Given the description of an element on the screen output the (x, y) to click on. 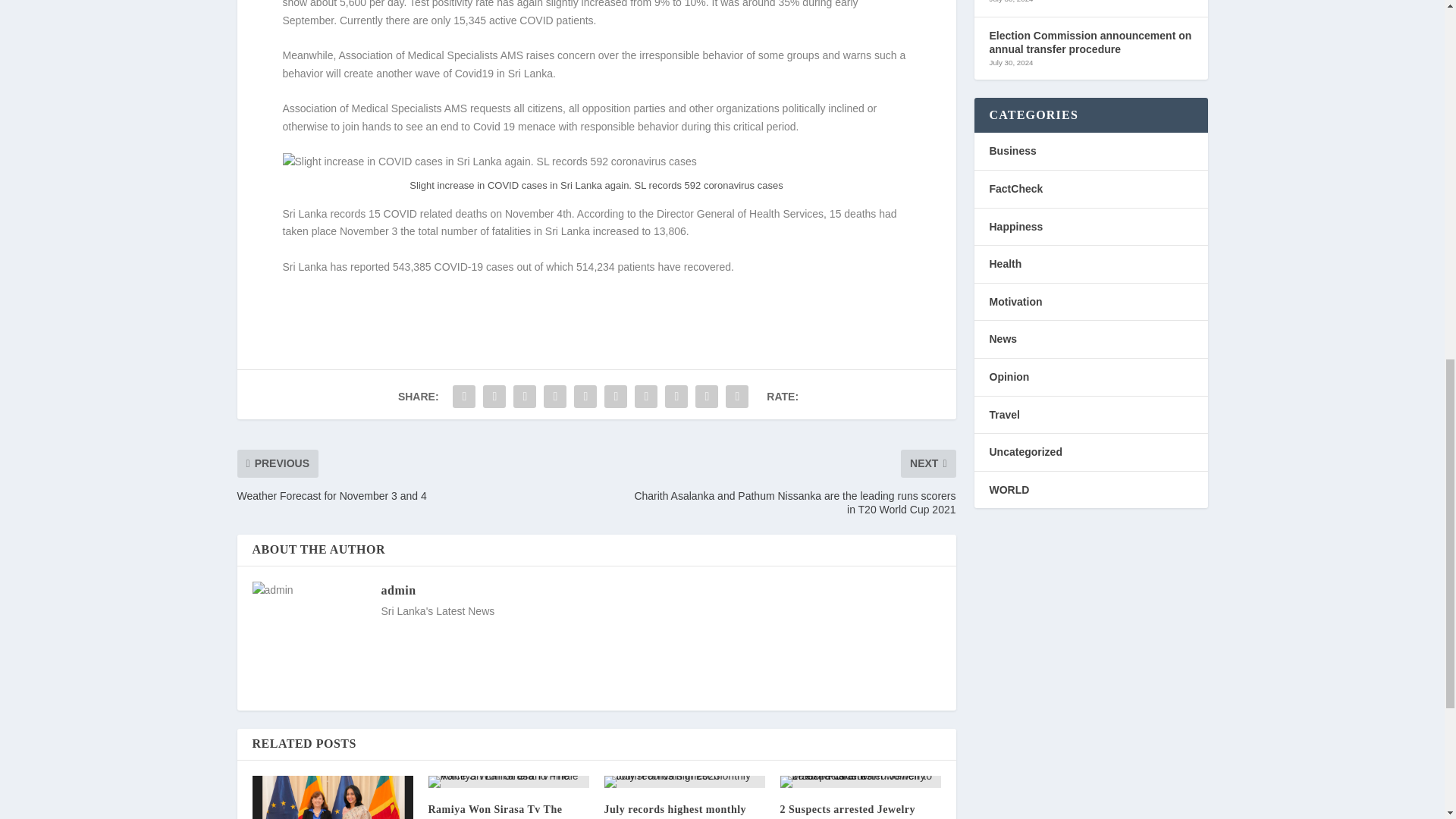
Ramiya Won Sirasa Tv The Voice Sri Lanka Grand Finale (501, 811)
admin (397, 590)
